Given the description of an element on the screen output the (x, y) to click on. 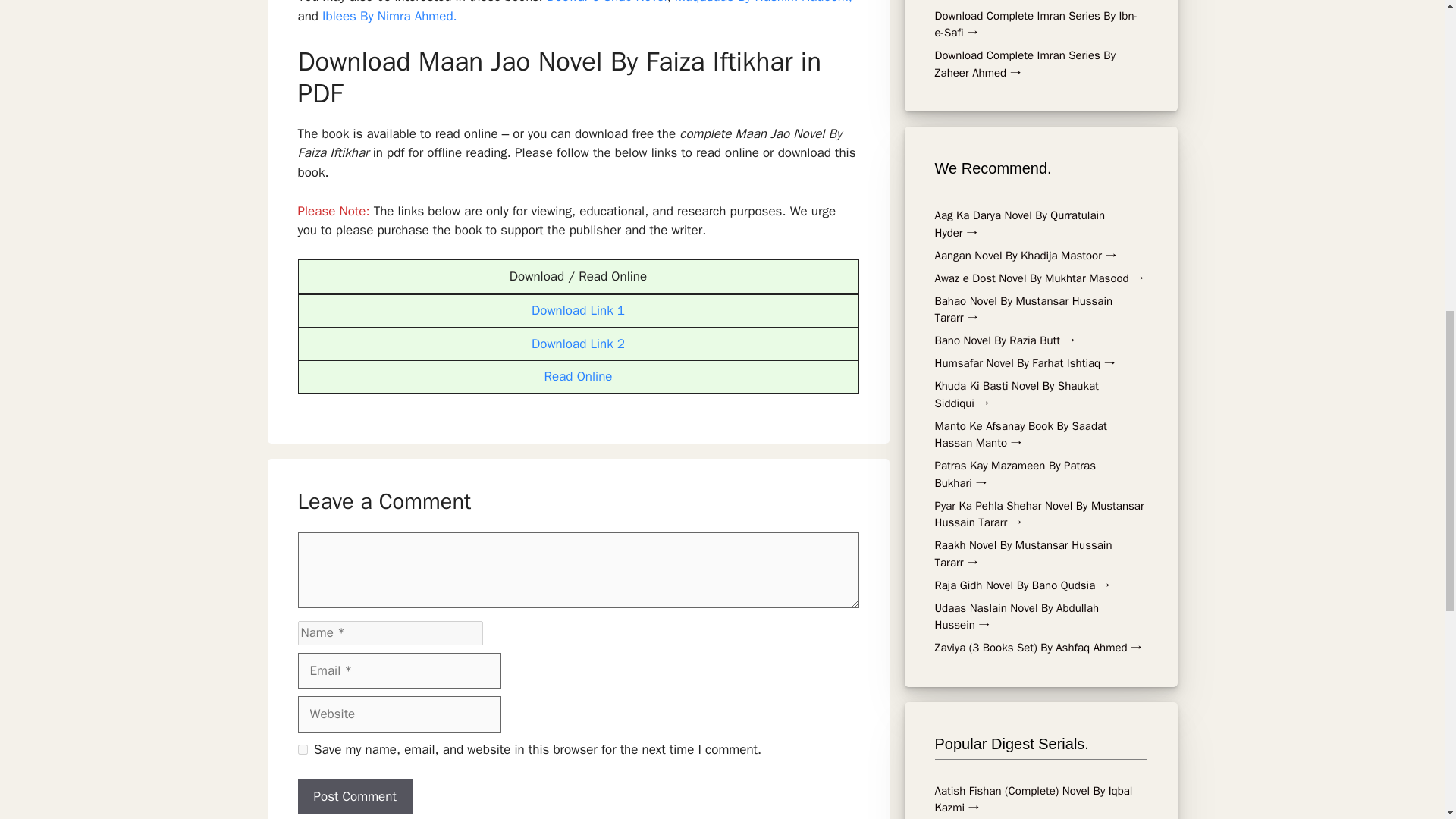
Post Comment (354, 796)
yes (302, 749)
Scroll back to top (1417, 671)
